Given the description of an element on the screen output the (x, y) to click on. 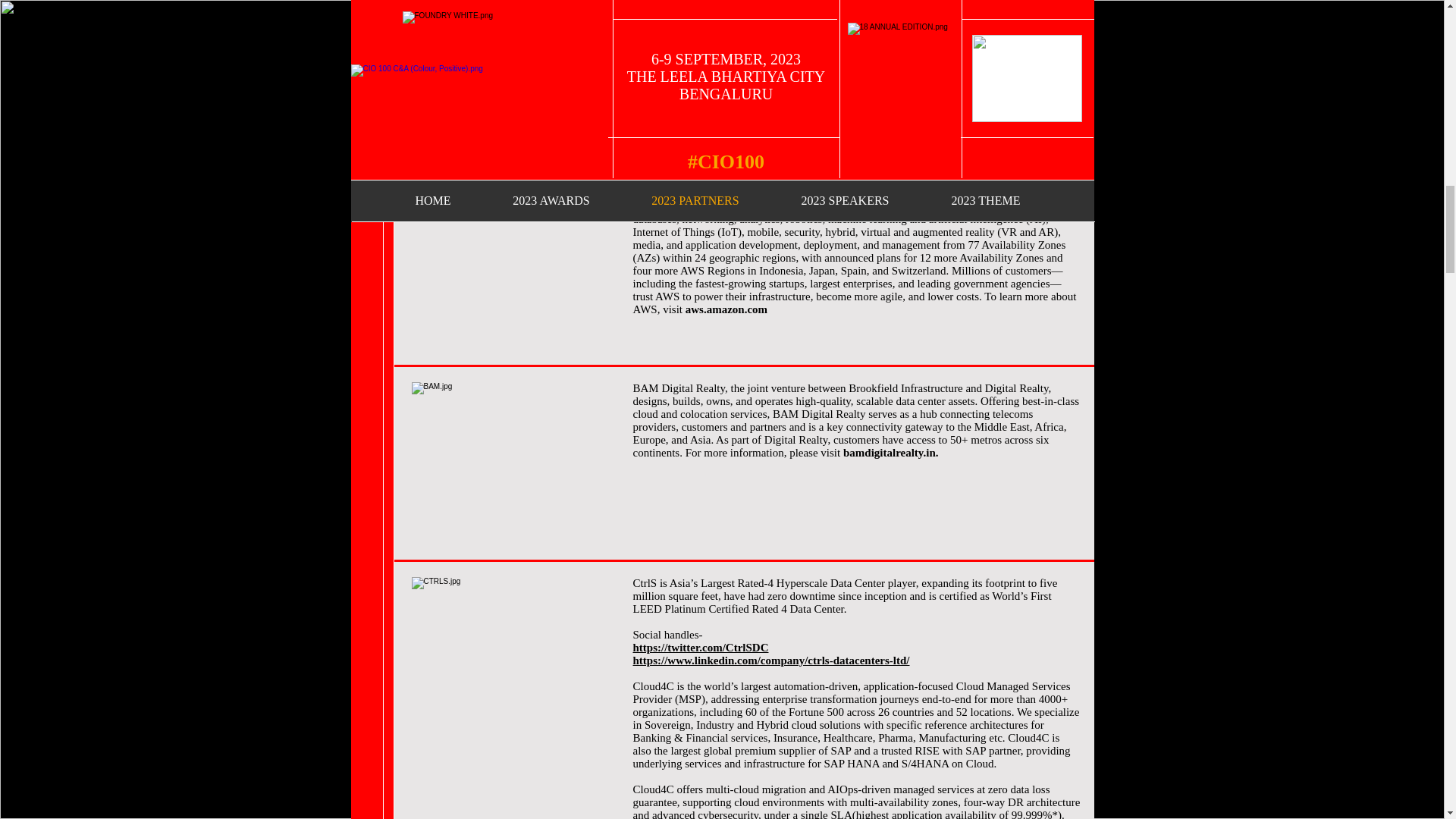
aws.amazon.com (726, 309)
bamdigitalrealty.in. (891, 452)
www.accops.com (672, 155)
LinkedIn (819, 155)
